Given the description of an element on the screen output the (x, y) to click on. 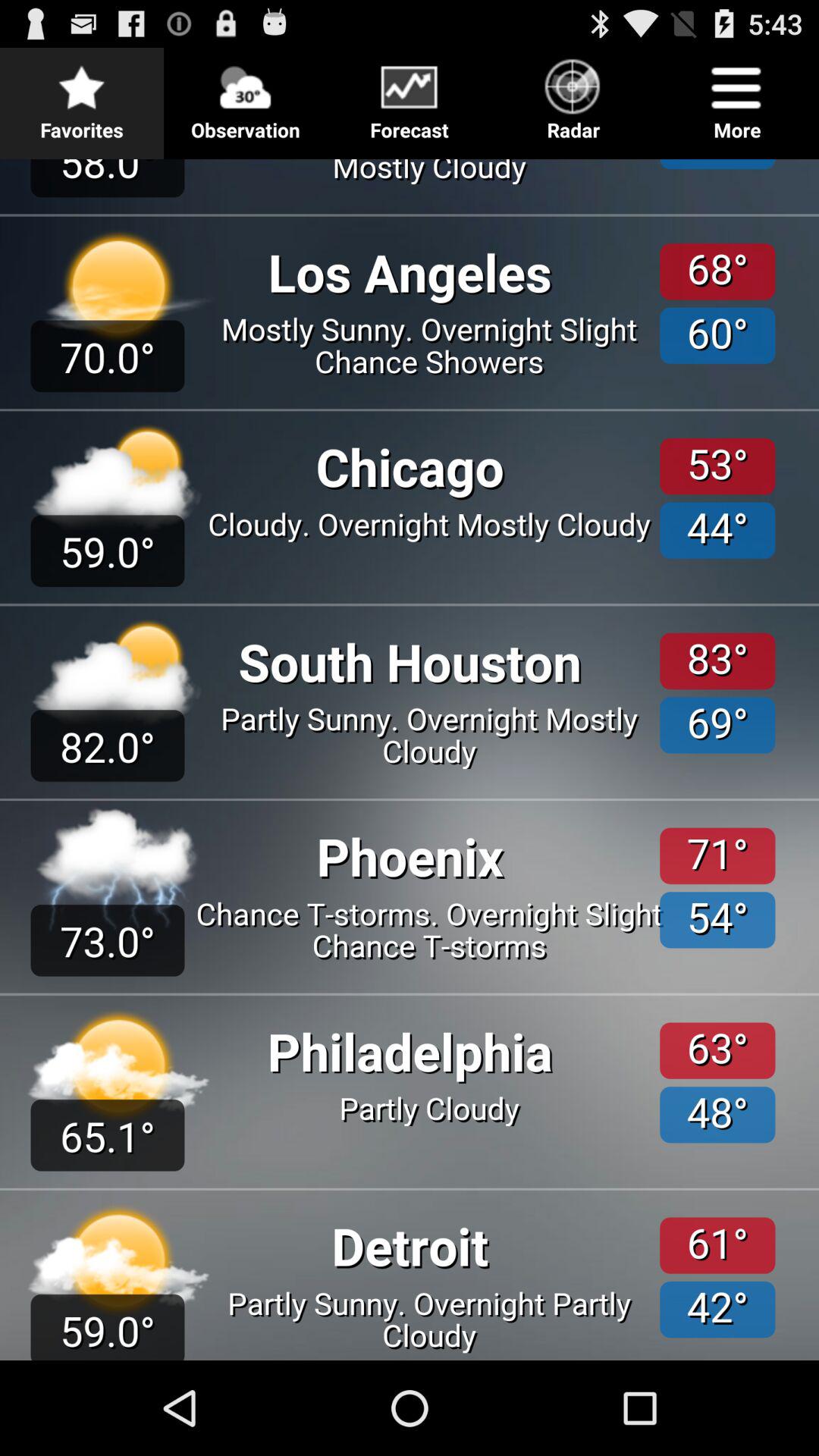
flip until the more icon (737, 95)
